Given the description of an element on the screen output the (x, y) to click on. 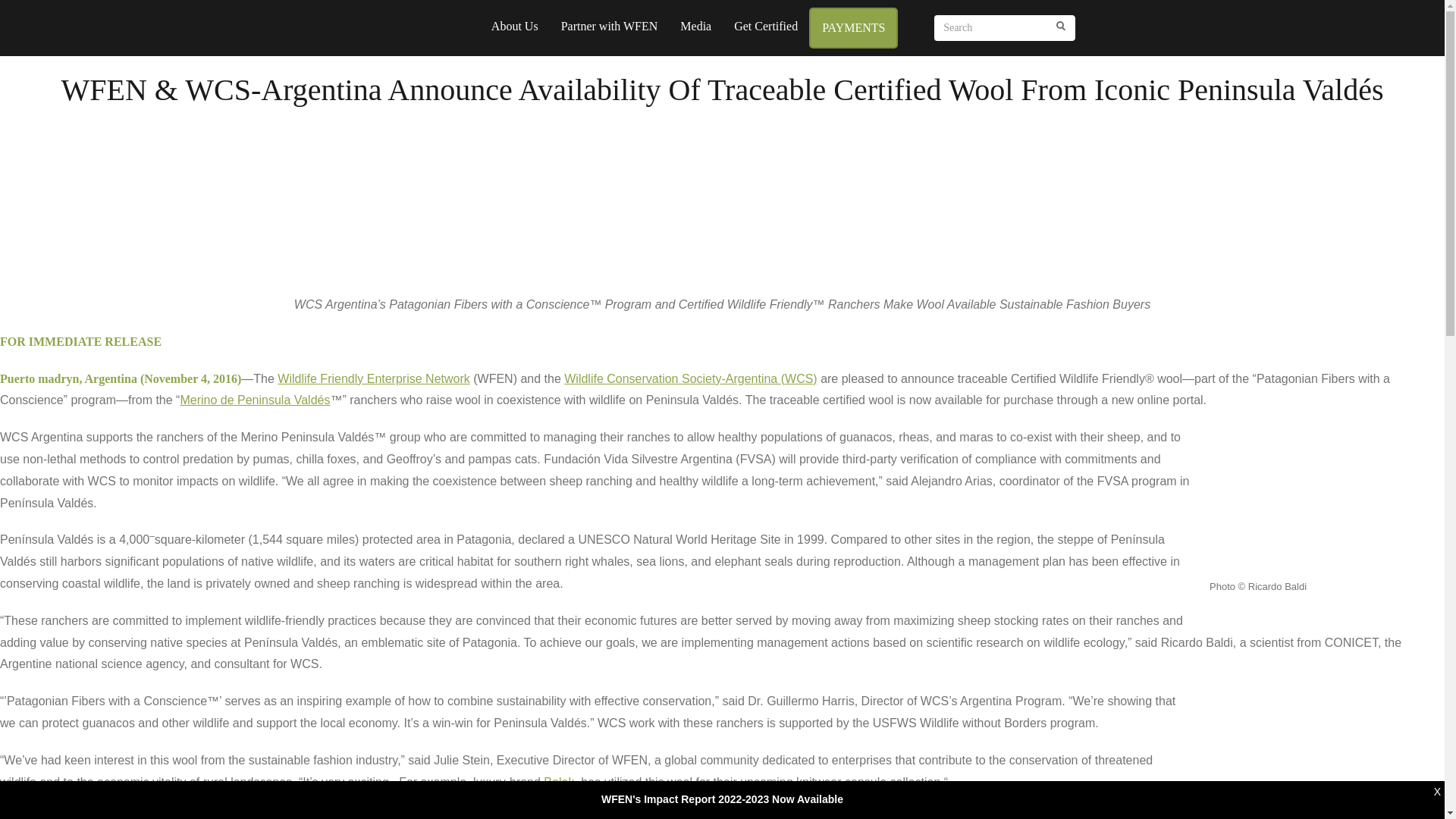
WFEN's Impact Report 2022-2023 Now Available (722, 799)
About Us (515, 26)
Partner with WFEN (609, 26)
Partner with WFEN (609, 26)
Get Certified (765, 26)
Media (695, 26)
About Us (515, 26)
